Given the description of an element on the screen output the (x, y) to click on. 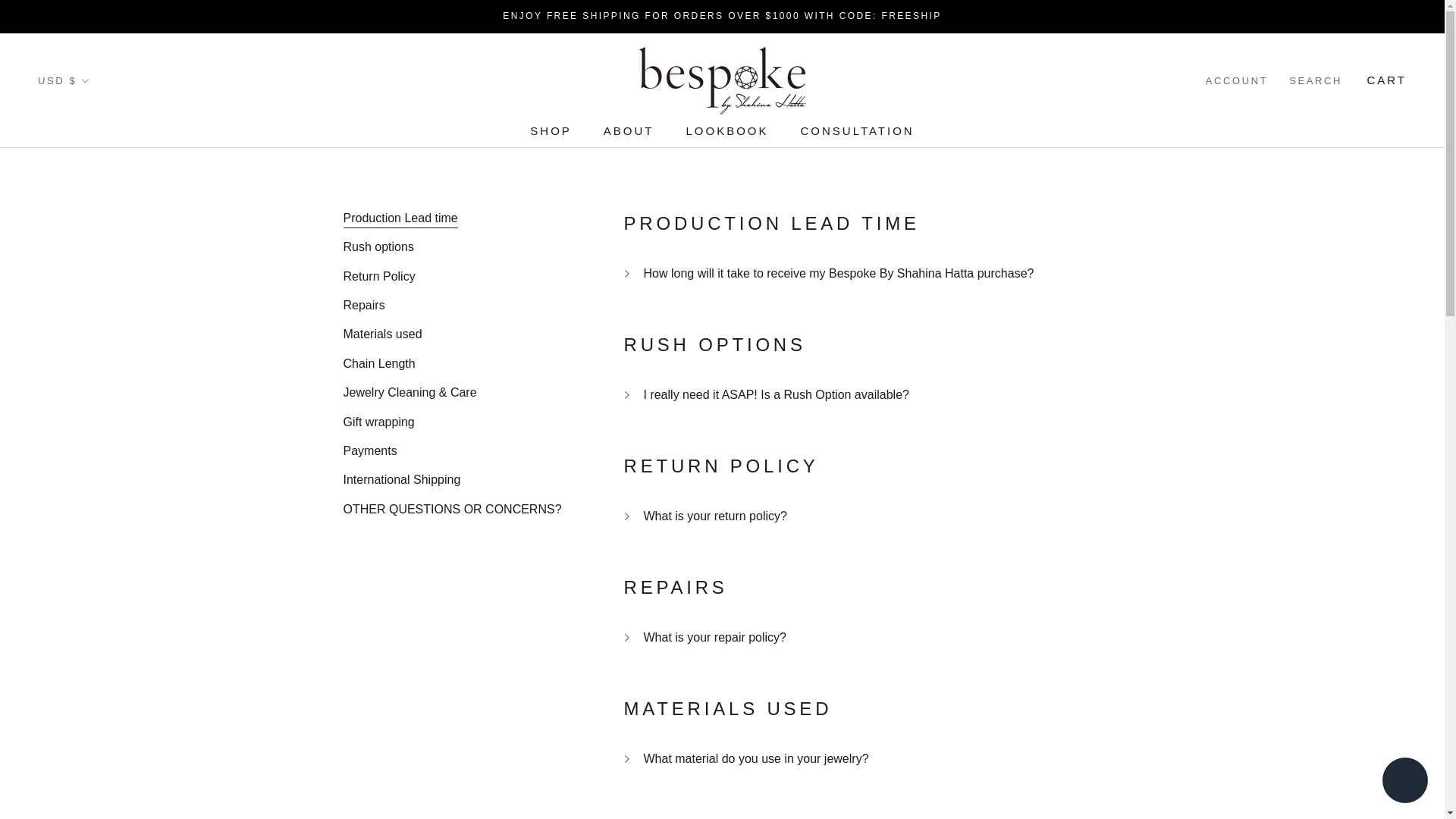
Shopify online store chat (1404, 781)
